Given the description of an element on the screen output the (x, y) to click on. 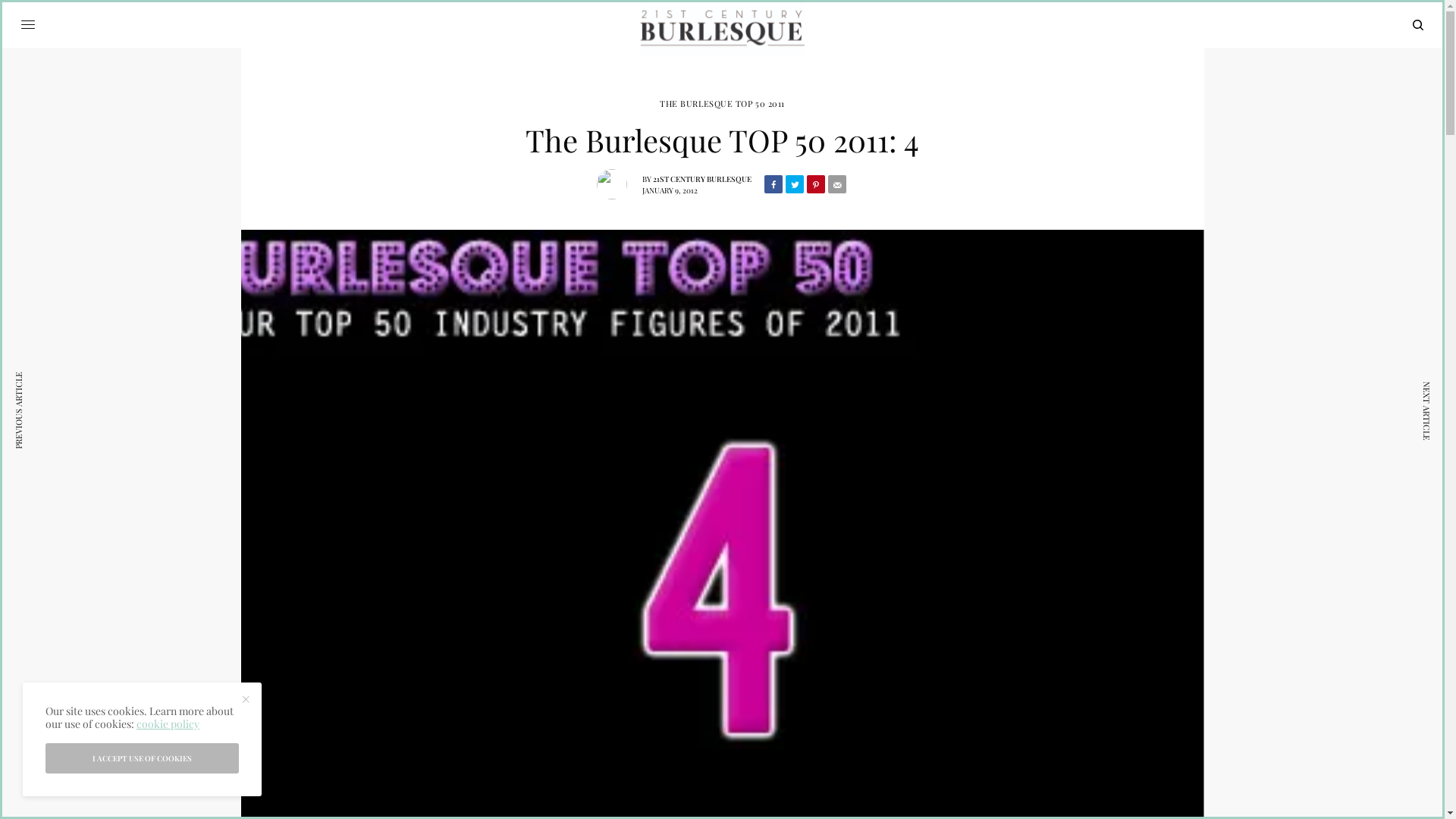
cookie policy Element type: text (167, 723)
THE BURLESQUE TOP 50 2011 Element type: text (721, 103)
I ACCEPT USE OF COOKIES Element type: text (141, 758)
21ST CENTURY BURLESQUE Element type: text (701, 177)
